Given the description of an element on the screen output the (x, y) to click on. 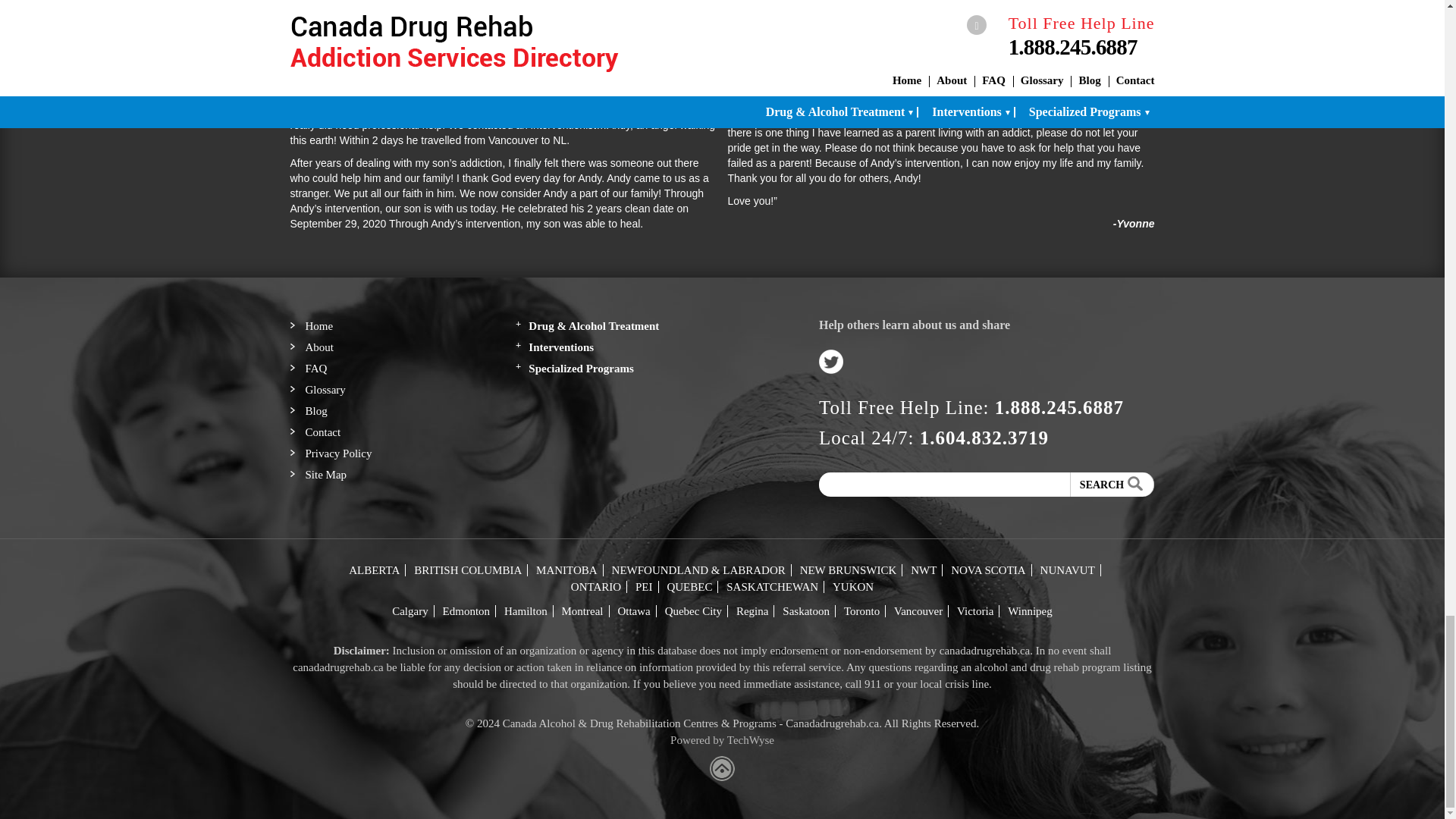
Search (1112, 484)
Search (1112, 484)
